Given the description of an element on the screen output the (x, y) to click on. 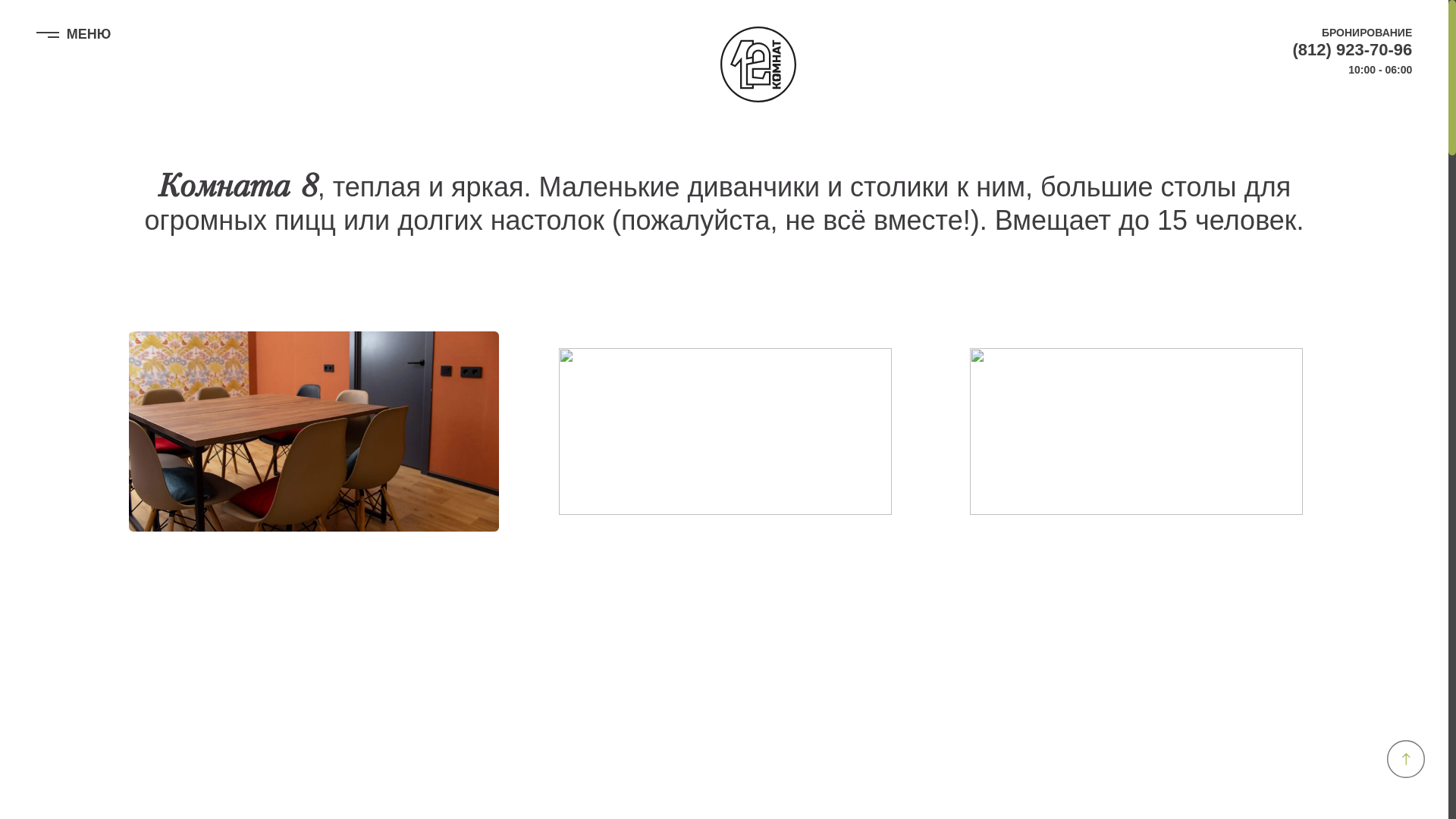
(812) 923-70-96 Element type: text (1352, 49)
